Given the description of an element on the screen output the (x, y) to click on. 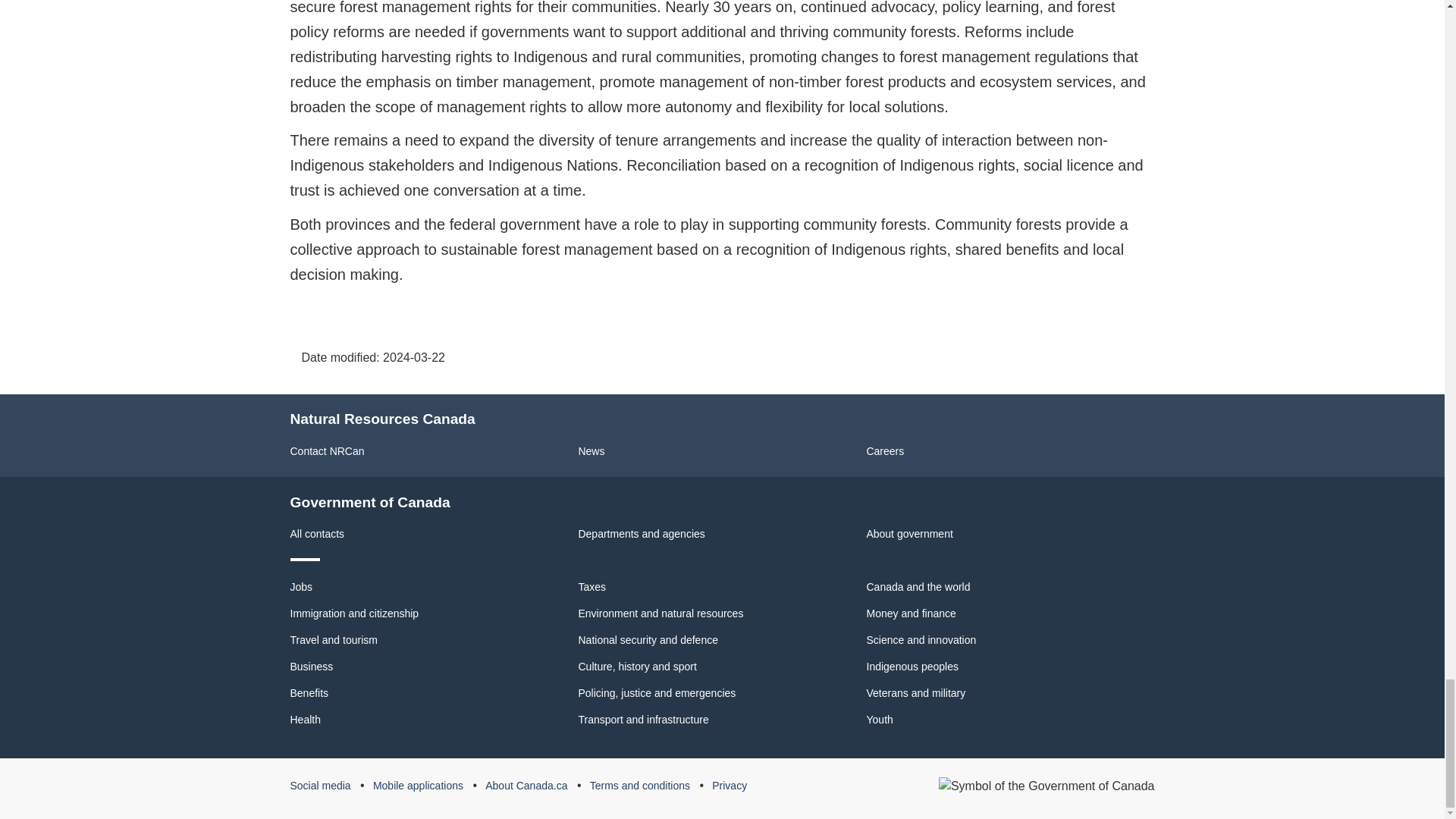
Environment and natural resources (660, 613)
Contact NRCan (326, 451)
Taxes (591, 586)
Health (304, 719)
Immigration and citizenship (354, 613)
Jobs (301, 586)
About government (909, 533)
Careers (885, 451)
News (591, 451)
Benefits (309, 693)
